Given the description of an element on the screen output the (x, y) to click on. 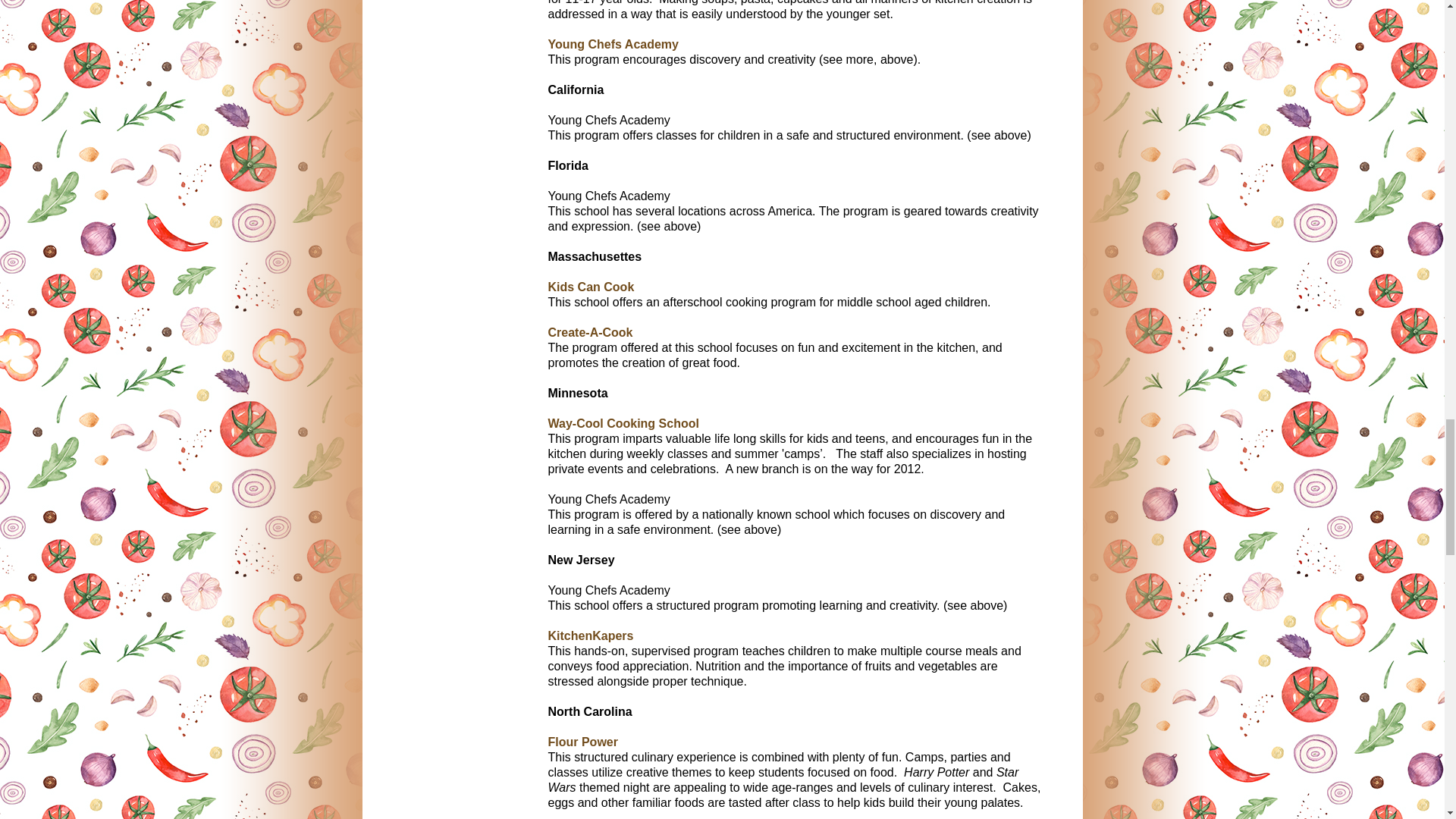
Young Chefs Academy (612, 43)
KitchenKapers (590, 643)
Flour Power (582, 741)
Way-Cool Cooking School (622, 422)
Create-A-Cook (589, 332)
Kids Can Cook (590, 286)
